Given the description of an element on the screen output the (x, y) to click on. 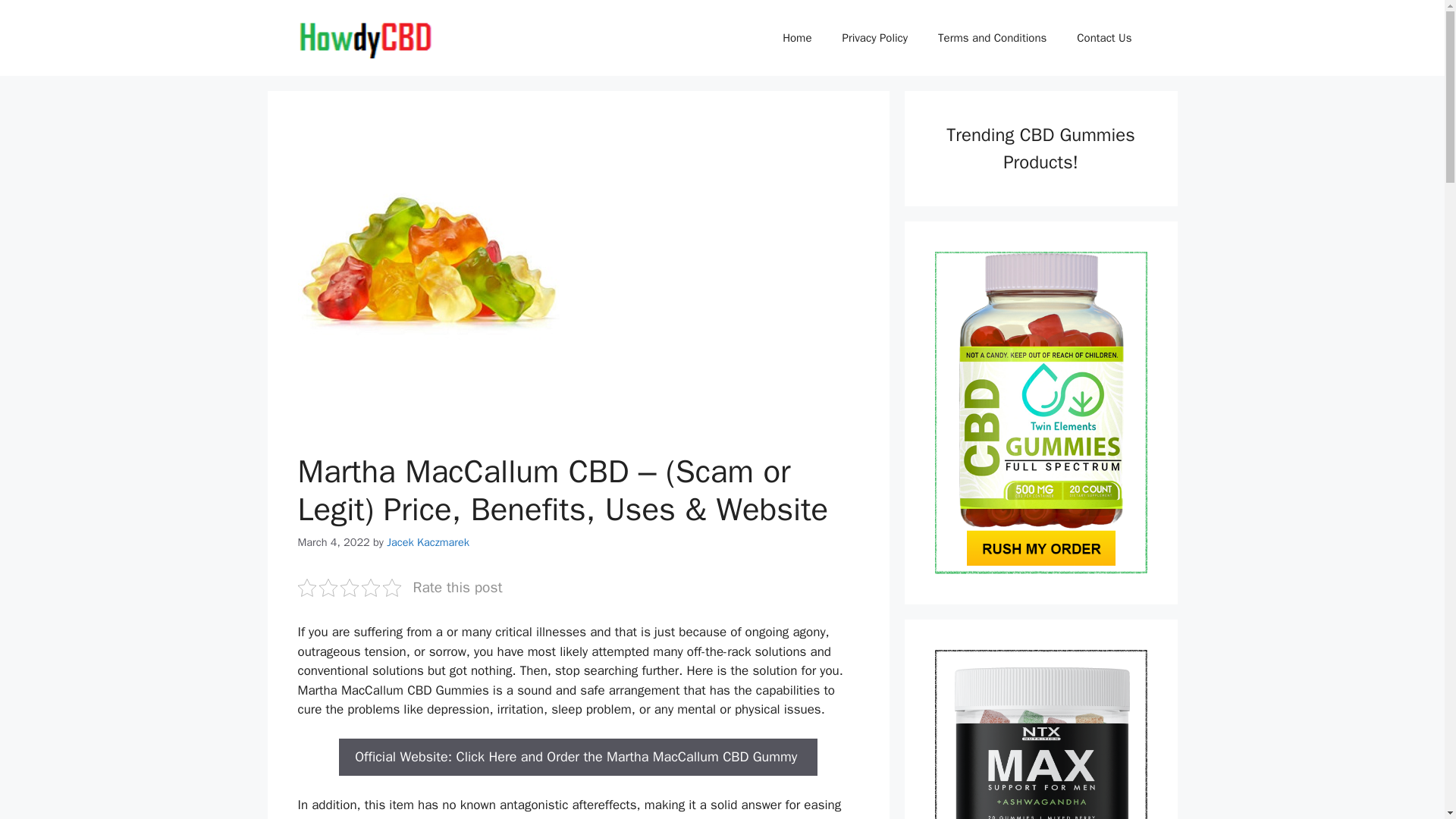
Contact Us (1104, 37)
Terms and Conditions (992, 37)
Jacek Kaczmarek (427, 541)
View all posts by Jacek Kaczmarek (427, 541)
Home (797, 37)
Privacy Policy (875, 37)
